Given the description of an element on the screen output the (x, y) to click on. 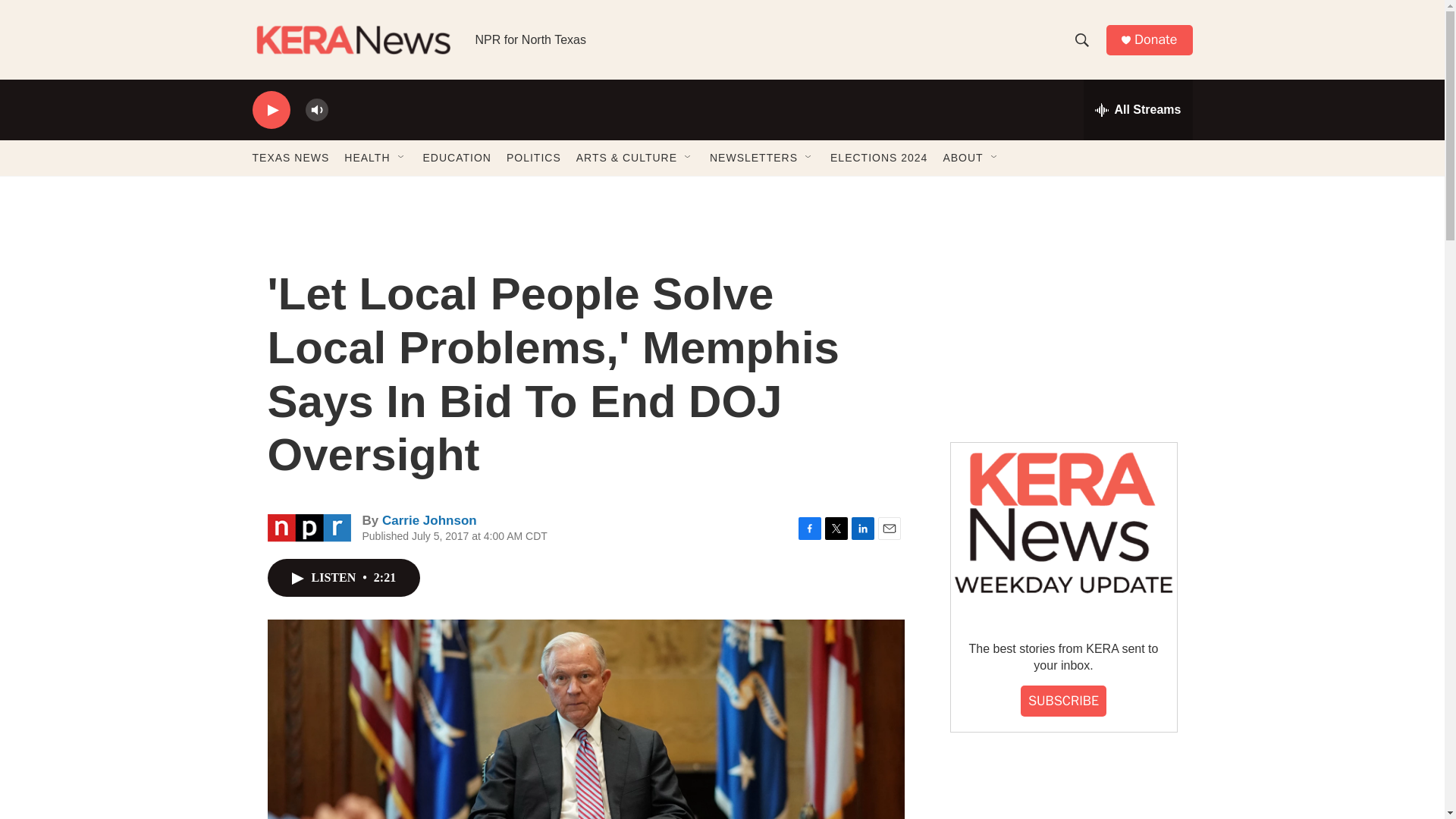
Show Search (1081, 39)
3rd party ad content (1062, 316)
